Given the description of an element on the screen output the (x, y) to click on. 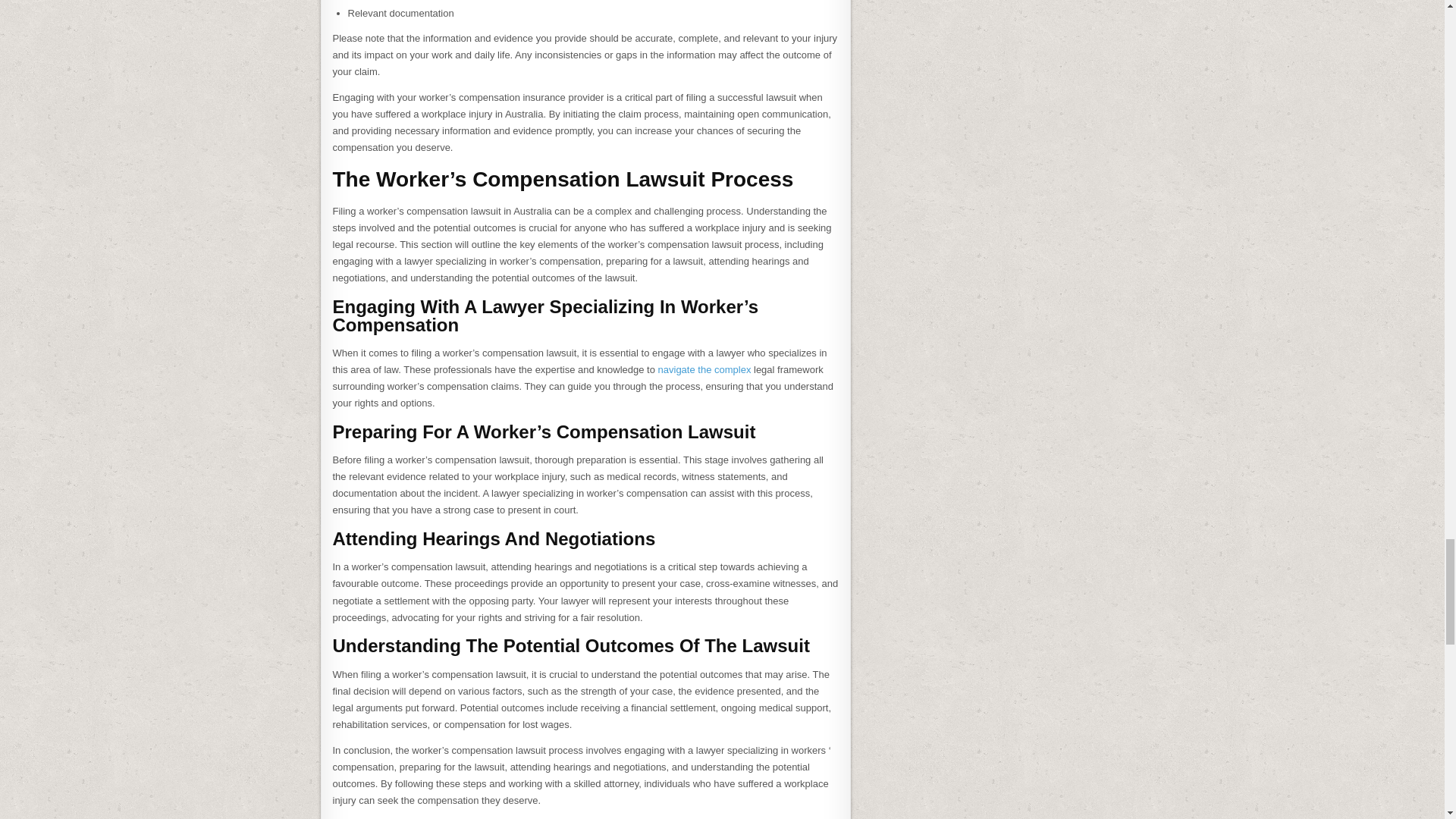
navigate the complex (704, 369)
